Given the description of an element on the screen output the (x, y) to click on. 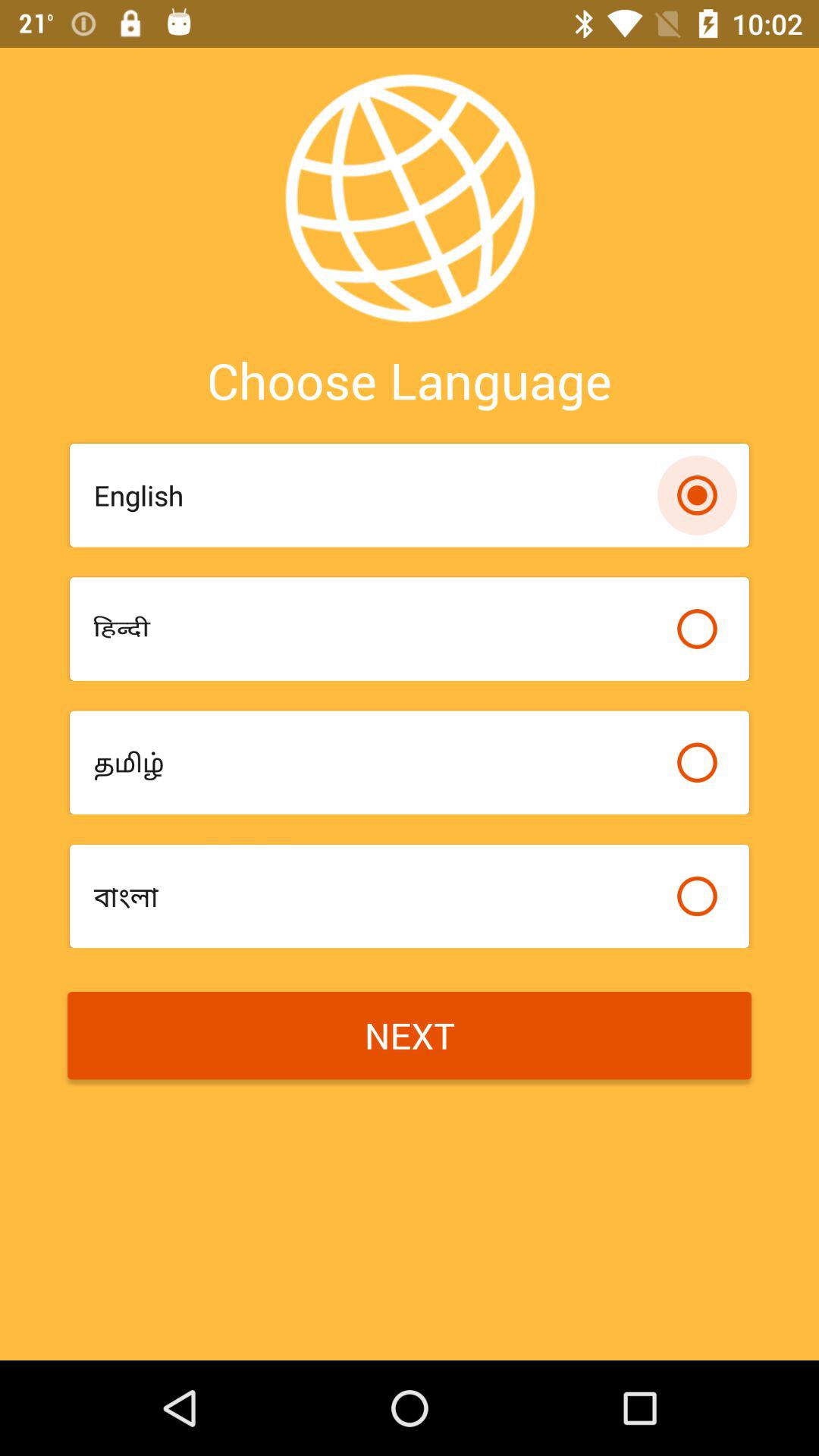
bullet option for select (697, 896)
